Given the description of an element on the screen output the (x, y) to click on. 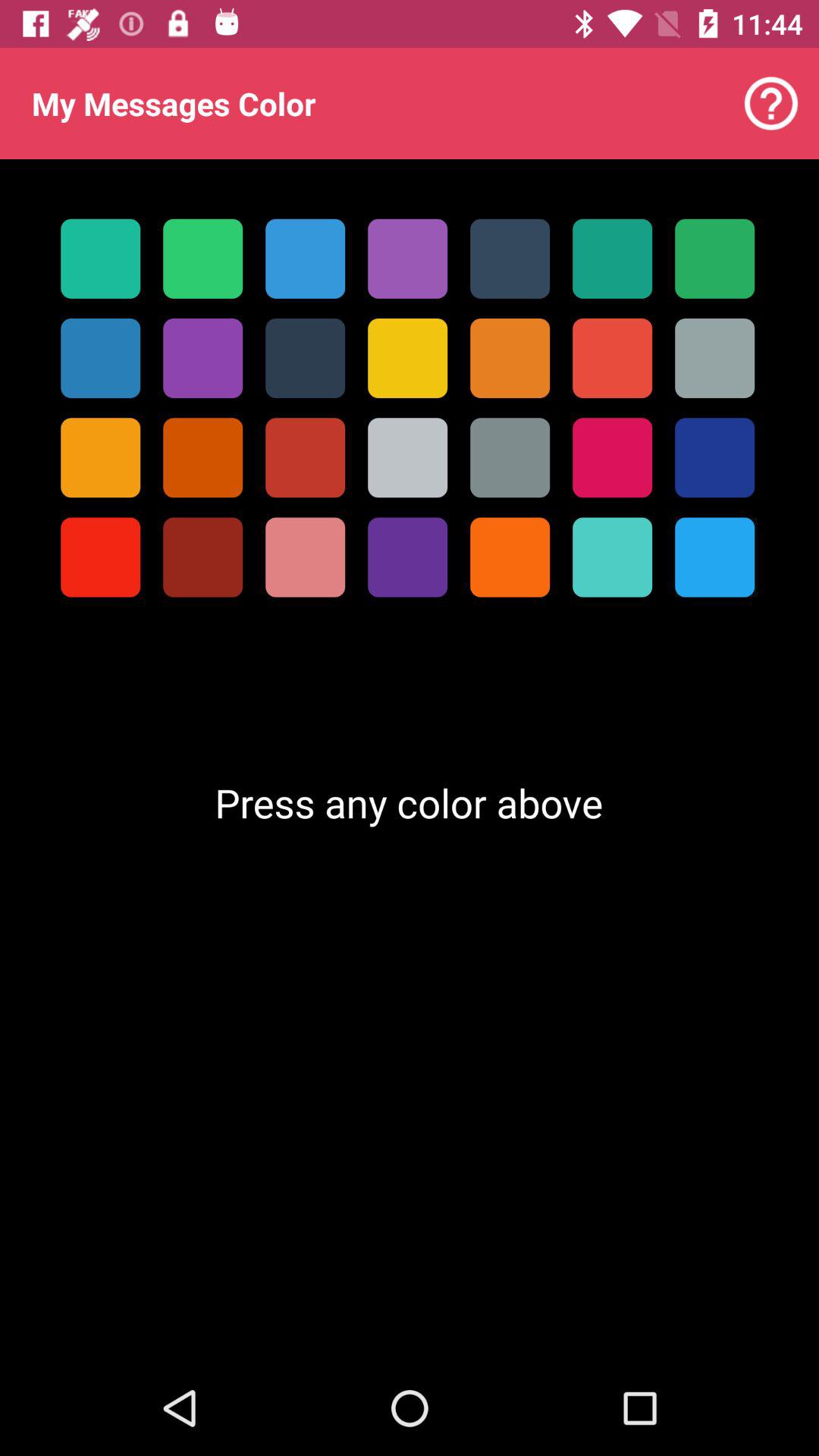
select the last color in the last row (714, 557)
select the third square box in last row (304, 557)
select the third square box in second row (304, 357)
click on the fourth color in the second row (407, 357)
select the second colored box from the right bottom corner (611, 557)
click on the help icon (771, 103)
click on the second row sixth box (611, 357)
click on the first row seventh box (714, 258)
select the 3rd color in the 3rd row (304, 457)
